Given the description of an element on the screen output the (x, y) to click on. 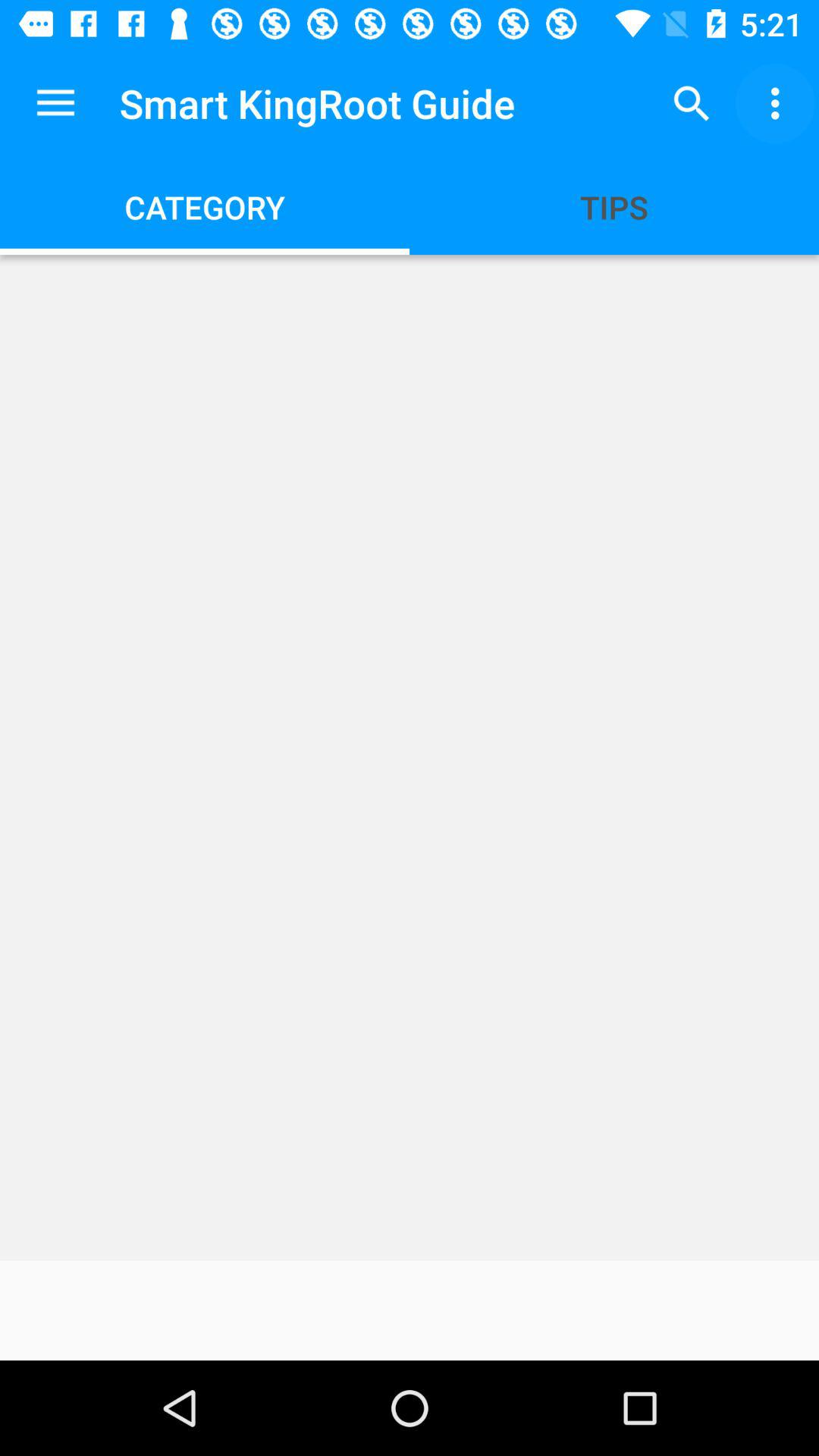
launch the item above the tips icon (691, 103)
